Given the description of an element on the screen output the (x, y) to click on. 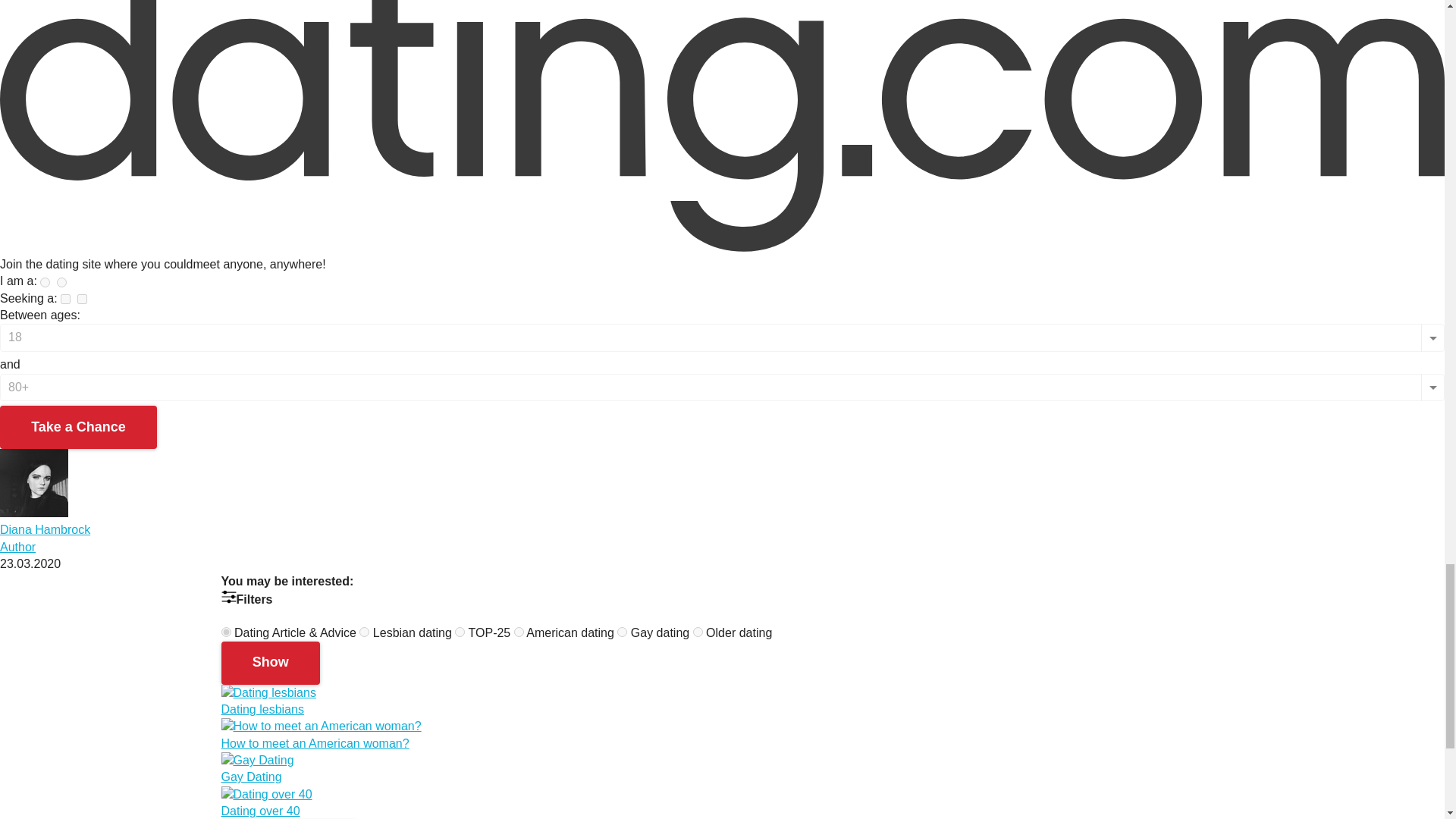
fem (61, 282)
on (622, 632)
on (698, 632)
mal (44, 282)
mal (65, 298)
on (364, 632)
on (226, 632)
on (518, 632)
fem (82, 298)
on (459, 632)
